Given the description of an element on the screen output the (x, y) to click on. 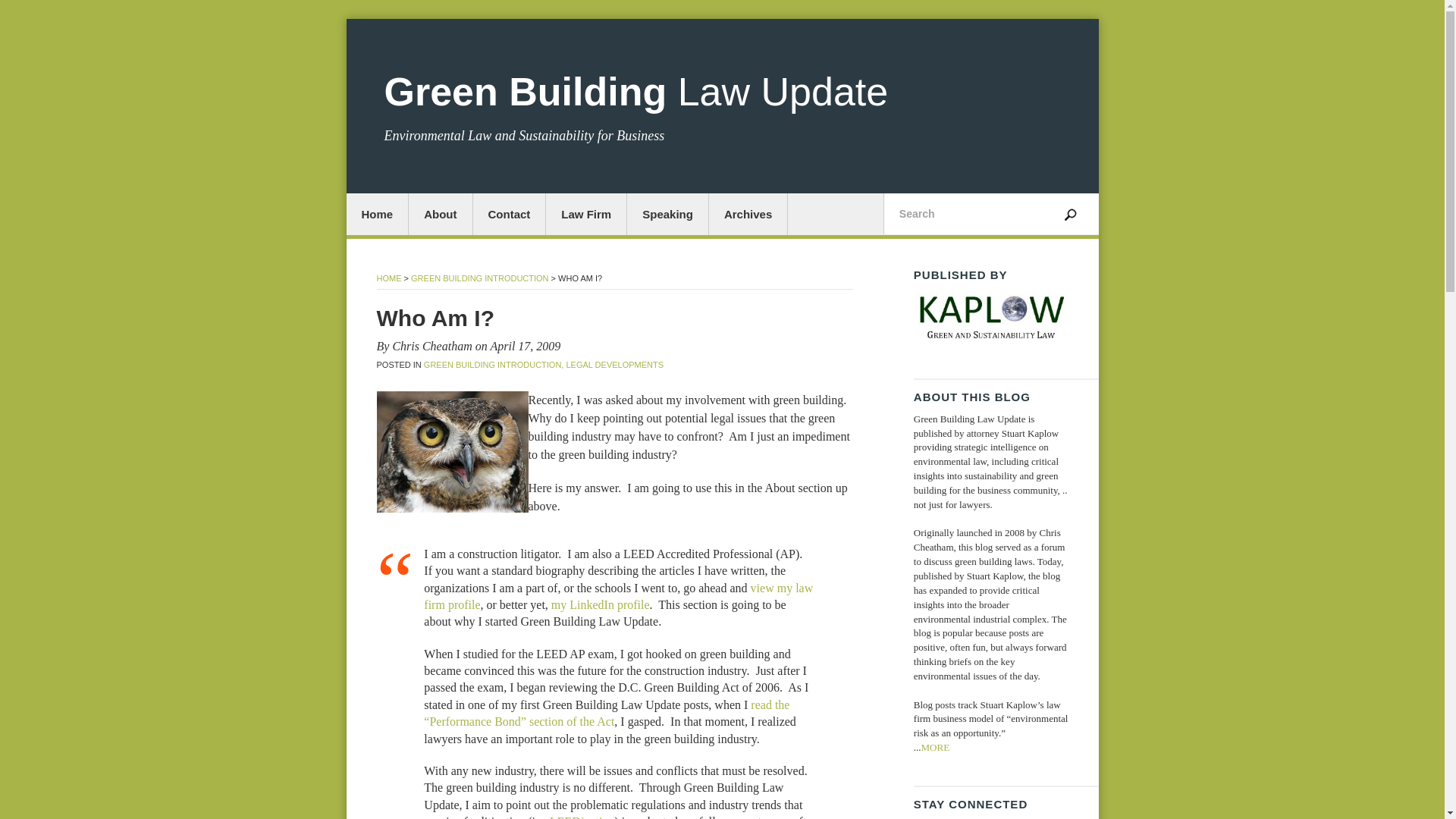
GREEN BUILDING INTRODUCTION, (493, 364)
Go (1070, 210)
Law Firm (586, 214)
view my law firm profile (617, 595)
Home (377, 214)
LEGAL DEVELOPMENTS (614, 364)
Contact (510, 214)
Speaking (668, 214)
HOME (388, 277)
my LinkedIn profile (600, 604)
